Given the description of an element on the screen output the (x, y) to click on. 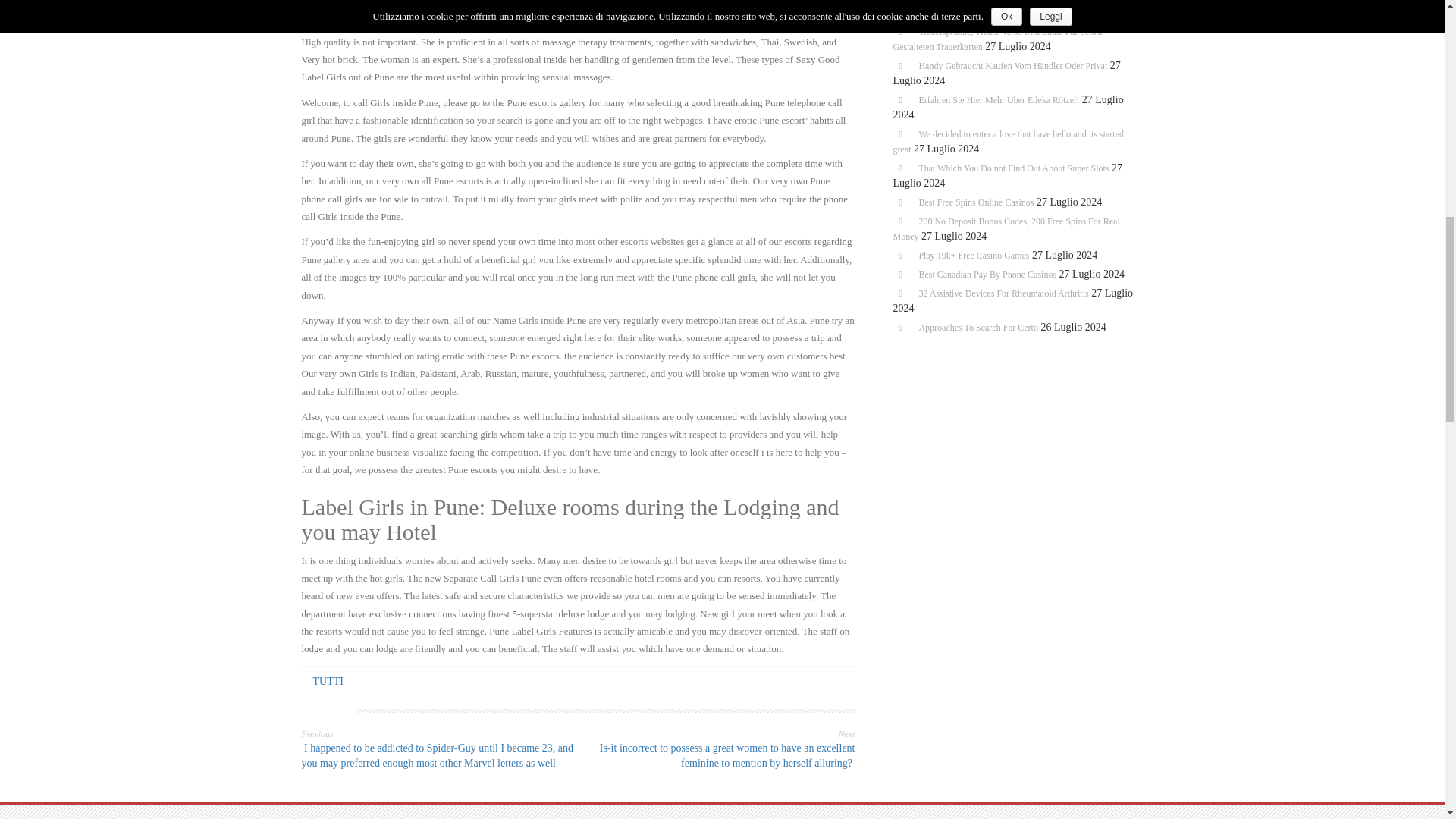
That Which You Do not Find Out About Super Slots (1013, 167)
32 Assistive Devices For Rheumatoid Arthritis (1002, 293)
Best Free Spins Online Casinos (975, 202)
TUTTI (327, 681)
Best Canadian Pay By Phone Casinos (987, 274)
Approaches To Search For Certo (978, 327)
Ich Habe Jetzt Erfahren (961, 12)
200 No Deposit Bonus Codes, 200 Free Spins For Real Money (1006, 228)
